Given the description of an element on the screen output the (x, y) to click on. 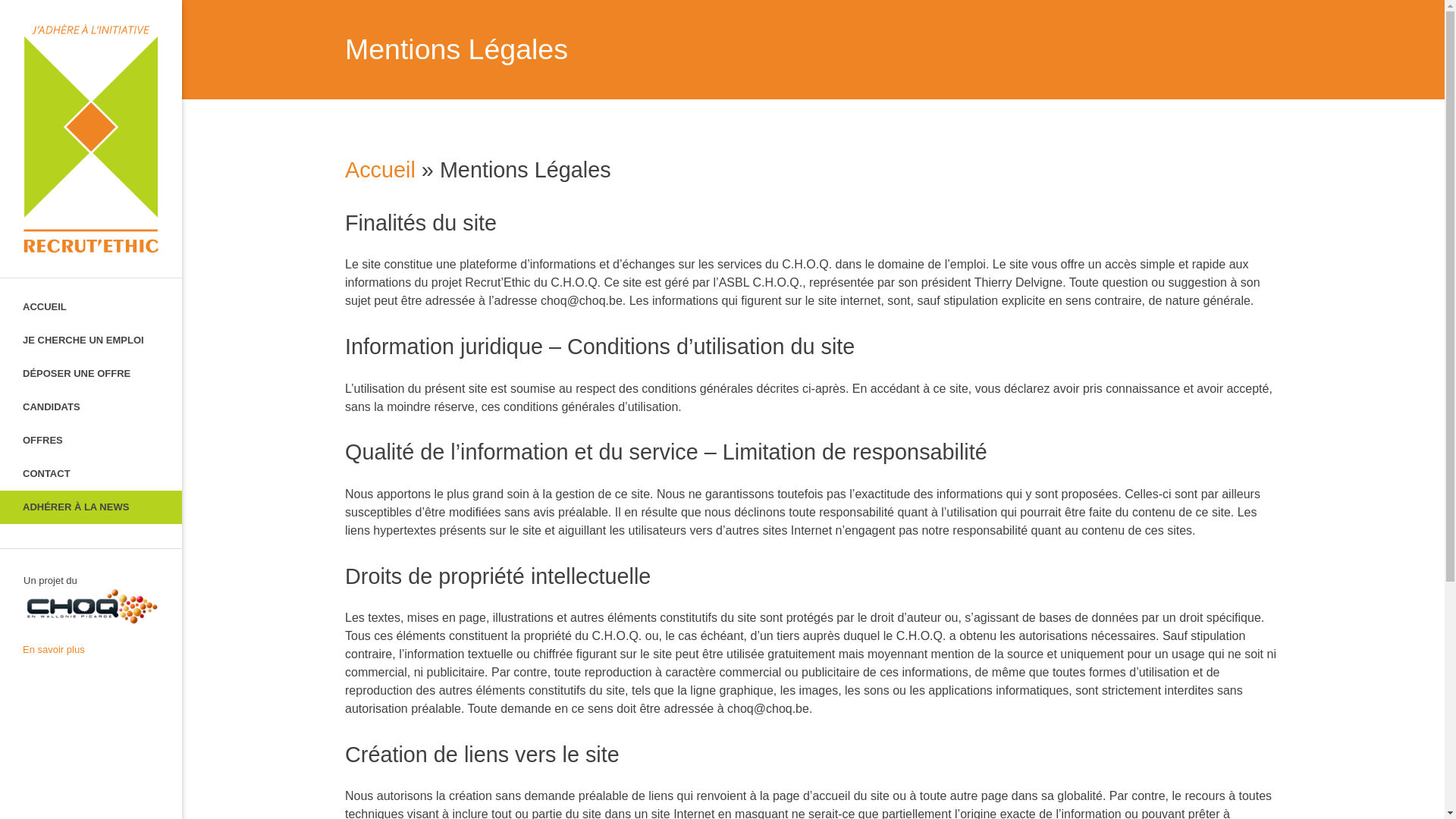
Accueil Element type: text (380, 169)
JE CHERCHE UN EMPLOI Element type: text (90, 340)
CANDIDATS Element type: text (90, 406)
ACCUEIL Element type: text (90, 306)
OFFRES Element type: text (90, 440)
En savoir plus Element type: text (90, 649)
CONTACT Element type: text (90, 473)
